Given the description of an element on the screen output the (x, y) to click on. 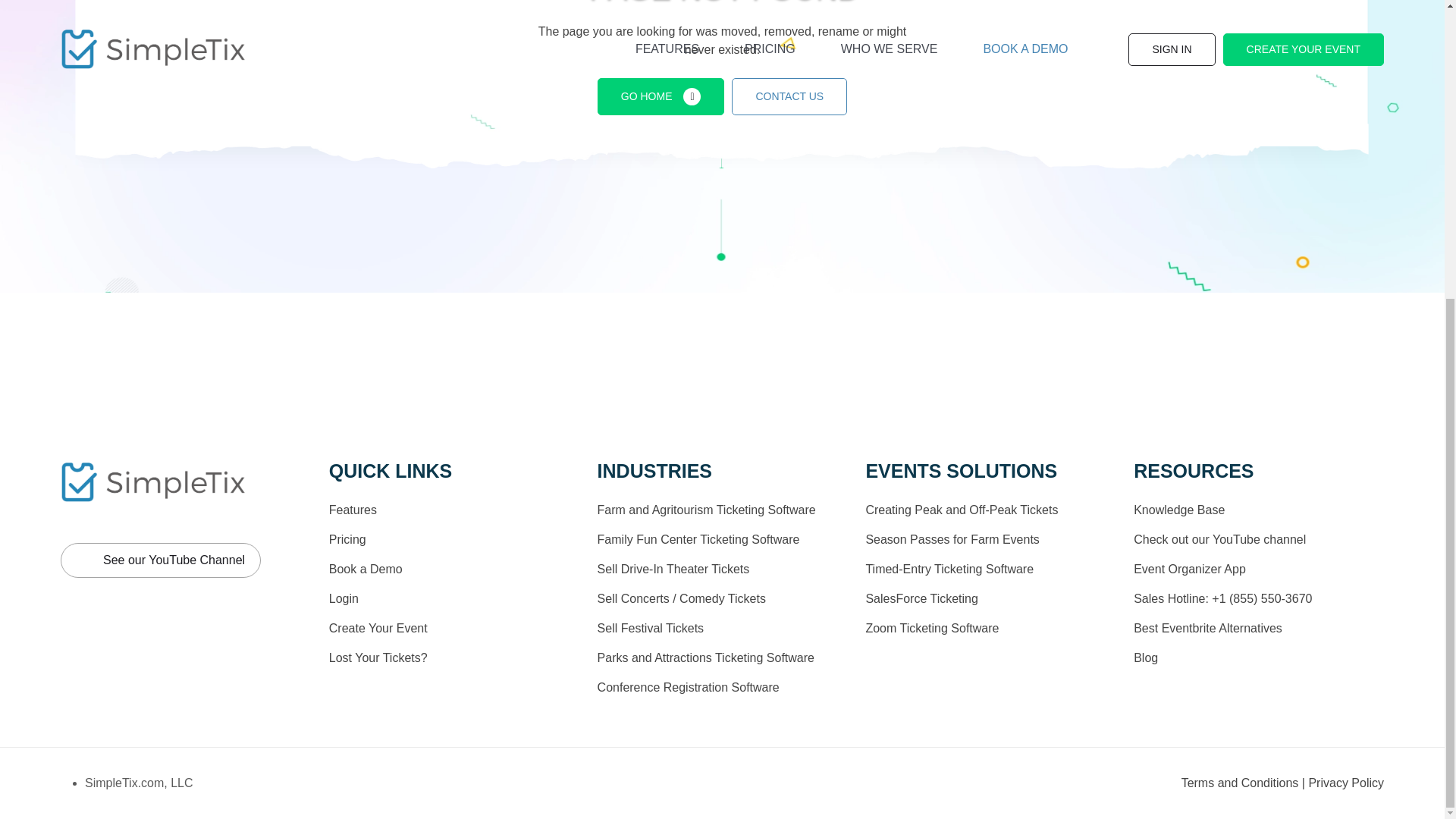
Sell Festival Tickets (649, 627)
Best Eventbrite Alternatives (1208, 627)
Timed-Entry Ticketing Software (948, 568)
Farm and Agritourism Ticketing Software (705, 509)
Knowledge Base (1179, 509)
Creating Peak and Off-Peak Tickets (961, 509)
Event Organizer App (1190, 568)
Parks and Attractions Ticketing Software (704, 657)
Blog (1145, 657)
CONTACT US (789, 96)
Season Passes for Farm Events (951, 539)
Login (343, 598)
Book a Demo (366, 568)
Terms and Conditions (1240, 782)
Privacy Policy (1345, 782)
